Given the description of an element on the screen output the (x, y) to click on. 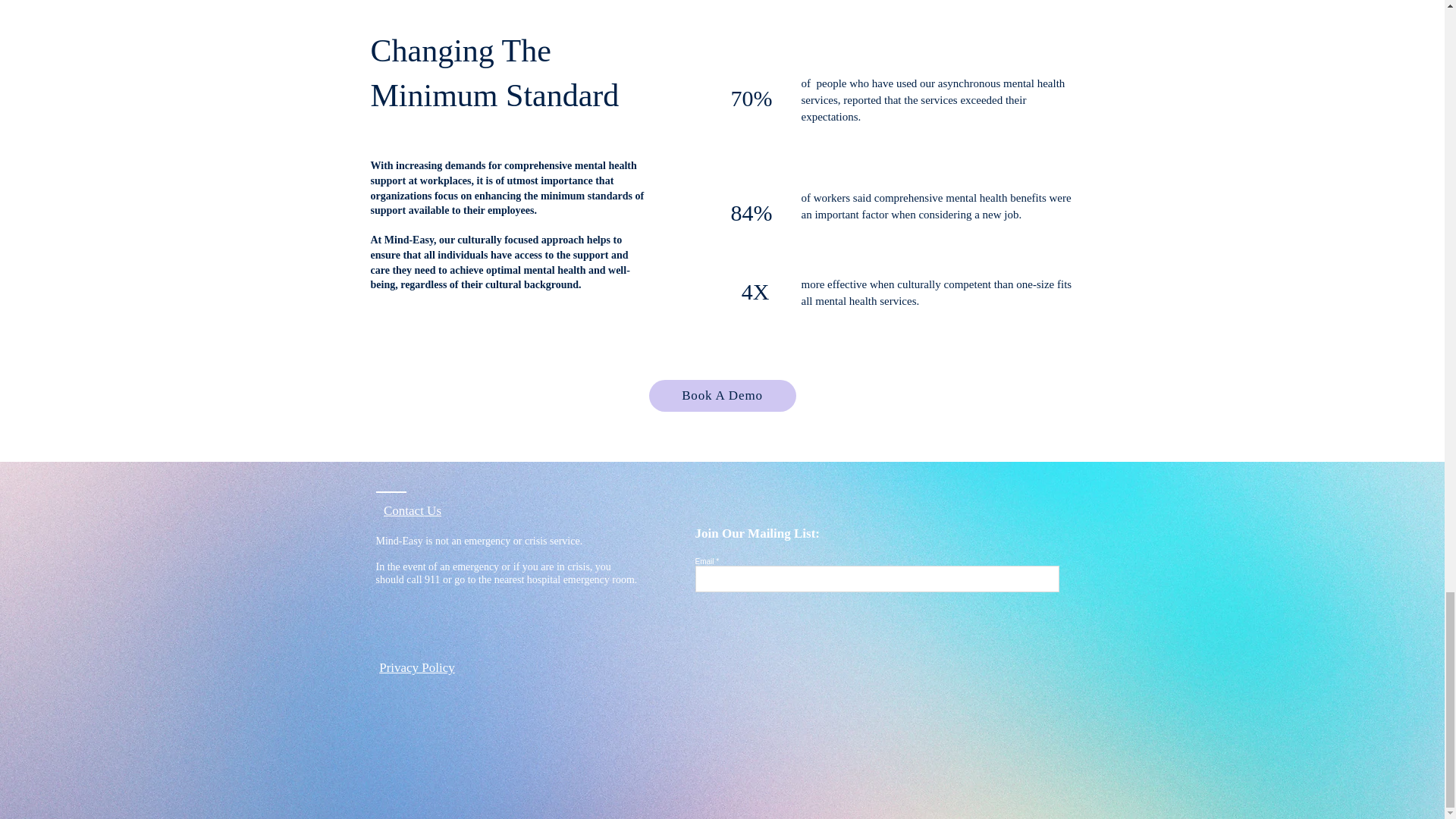
Contact Us (412, 511)
Book A Demo (722, 395)
Privacy Policy (416, 667)
Subscribe (1022, 576)
